Given the description of an element on the screen output the (x, y) to click on. 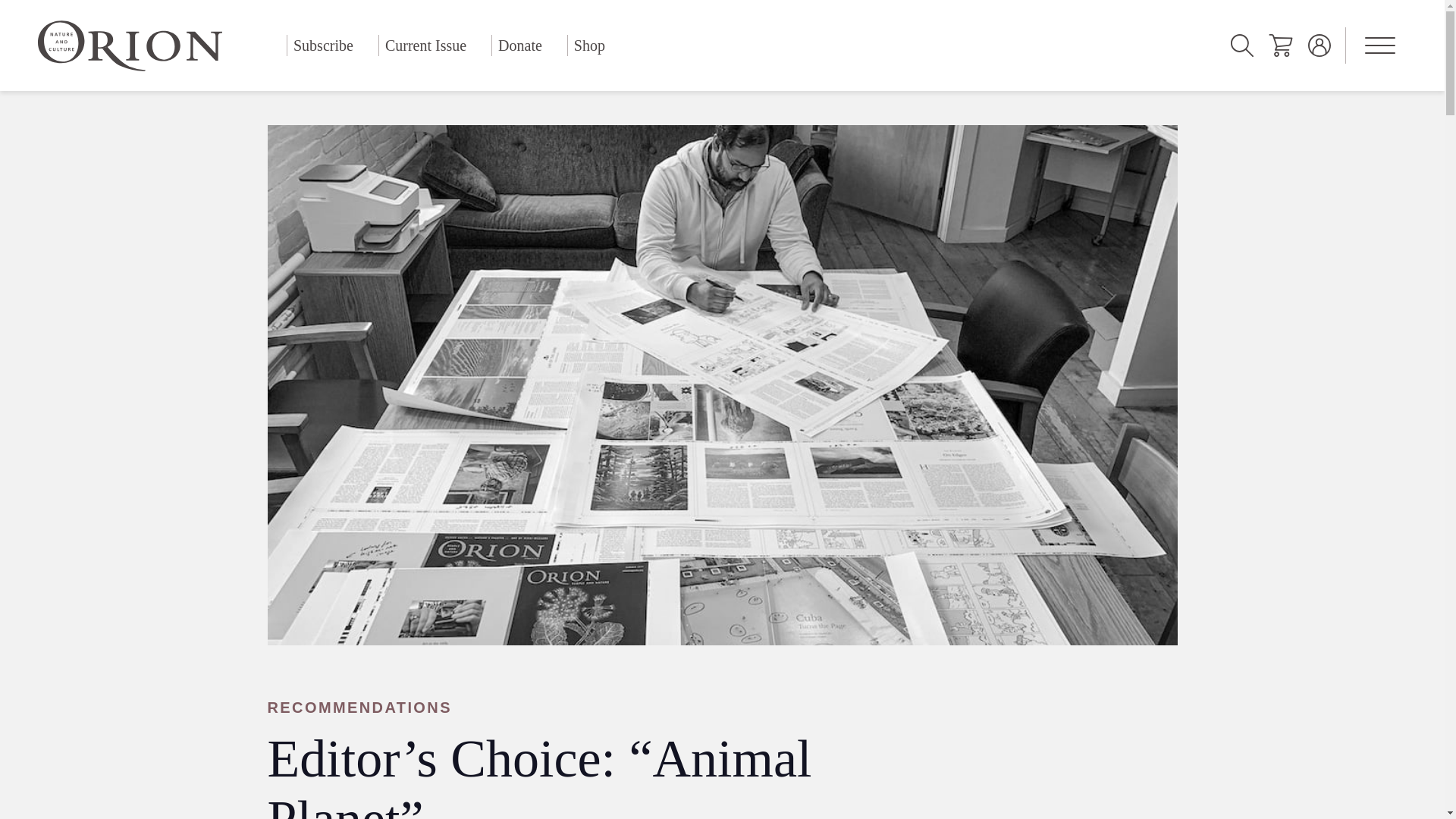
Account Dashboard (1319, 45)
Search (1242, 45)
Donate (520, 45)
Current Issue (424, 45)
Cart (1280, 45)
RECOMMENDATIONS (623, 707)
Shop (589, 45)
Subscribe (322, 45)
